Given the description of an element on the screen output the (x, y) to click on. 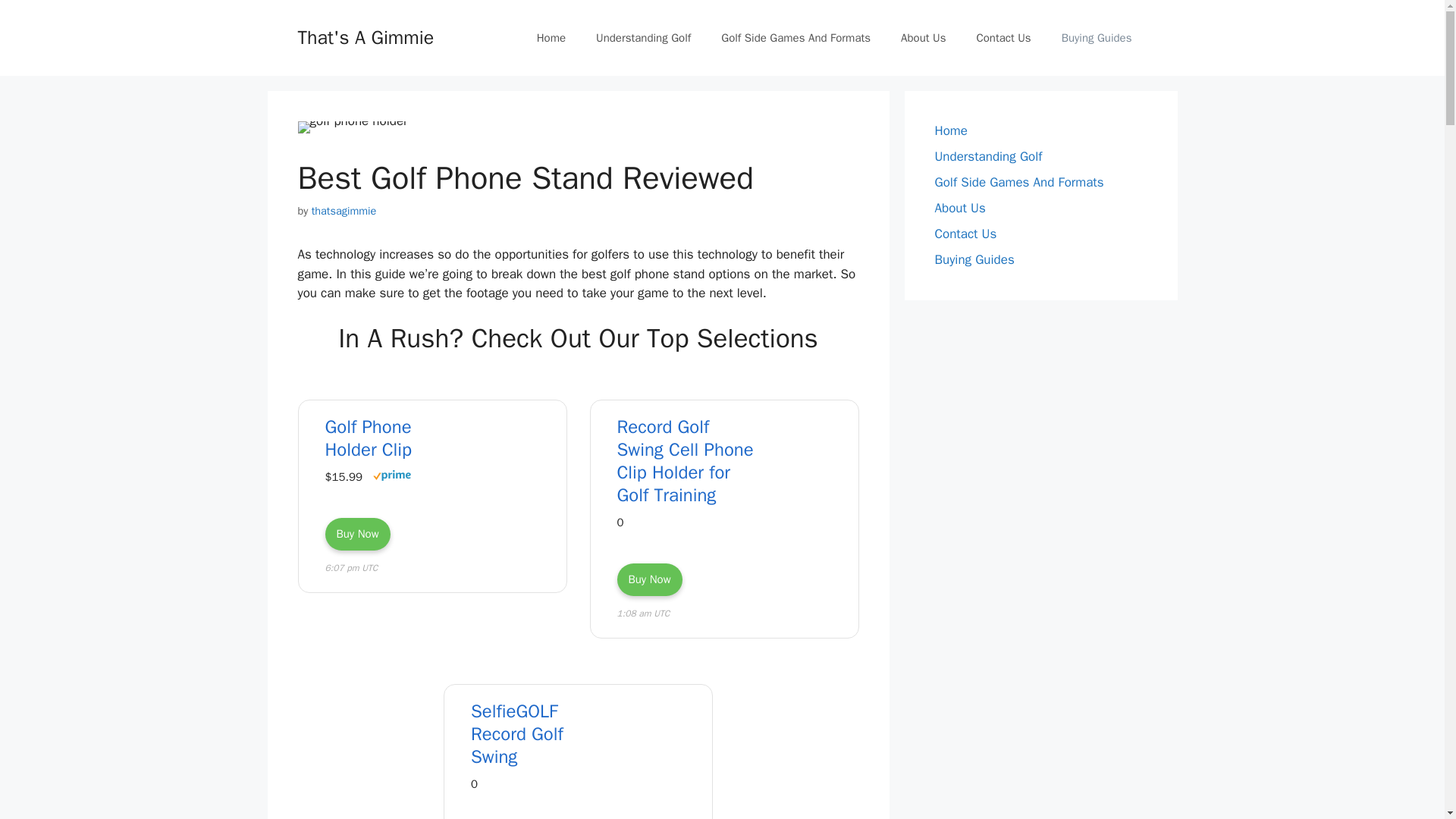
View all posts by thatsagimmie (344, 210)
Understanding Golf (643, 37)
That's A Gimmie (365, 37)
Contact Us (1002, 37)
Record Golf Swing Cell Phone Clip Holder for Golf Training (688, 460)
Buying Guides (1096, 37)
Golf Side Games And Formats (795, 37)
SelfieGOLF Record Golf Swing (542, 734)
Buy Now (649, 579)
About Us (922, 37)
